Given the description of an element on the screen output the (x, y) to click on. 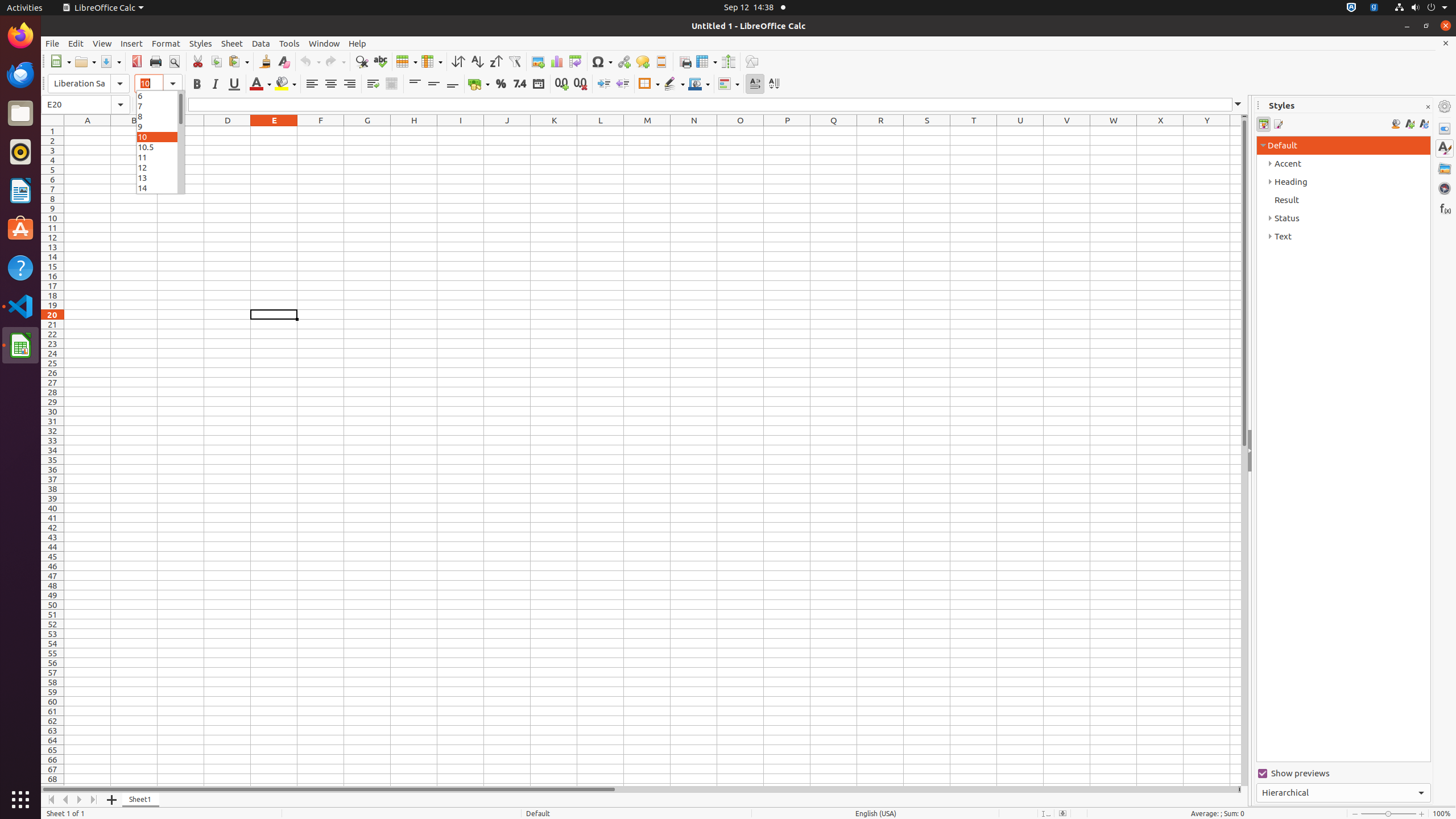
Data Element type: menu (260, 43)
Undo Element type: push-button (309, 61)
View Element type: menu (102, 43)
Move Right Element type: push-button (79, 799)
Align Left Element type: push-button (311, 83)
